Given the description of an element on the screen output the (x, y) to click on. 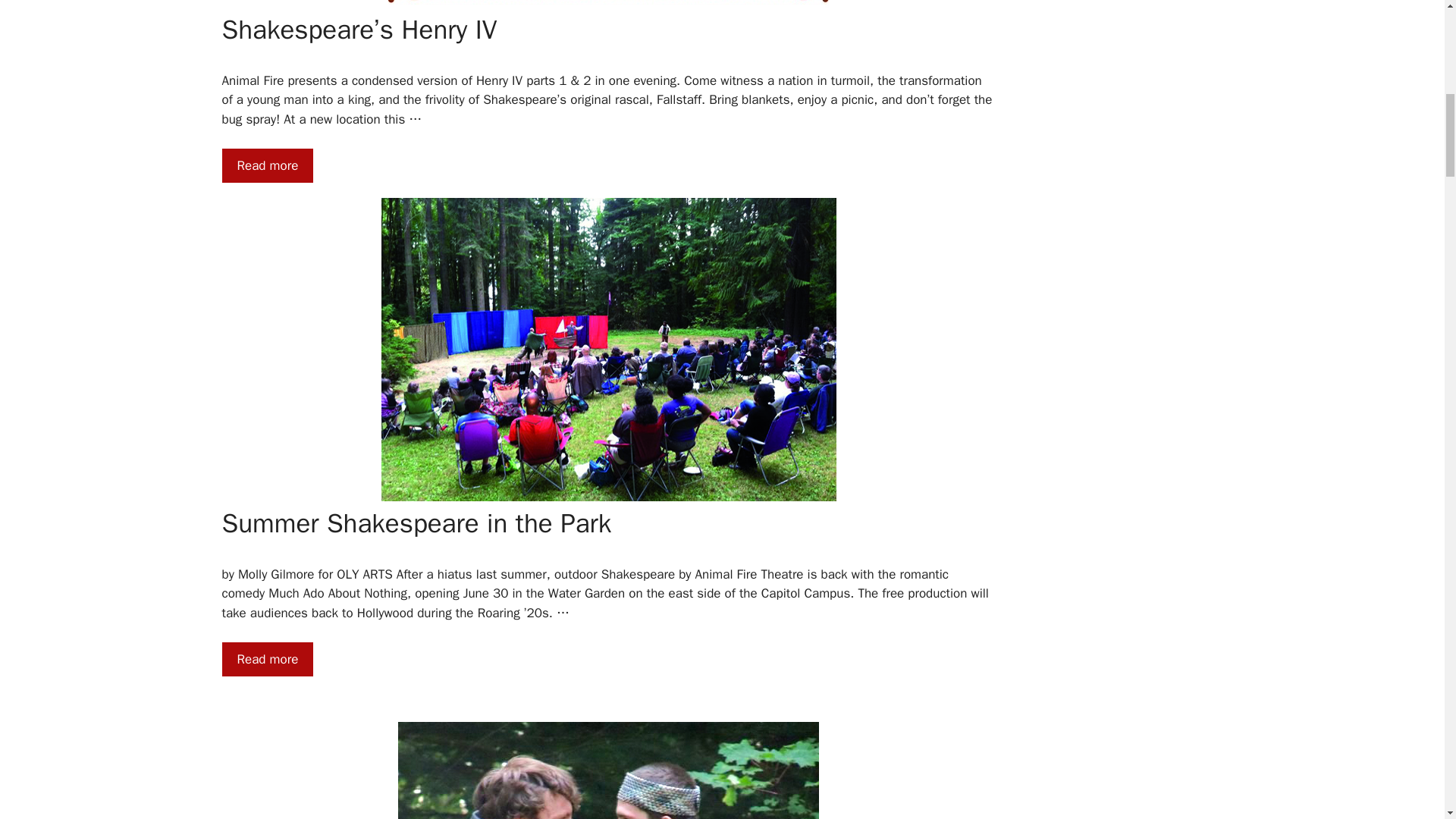
Scroll back to top (1406, 720)
Summer Shakespeare in the Park (267, 659)
